Given the description of an element on the screen output the (x, y) to click on. 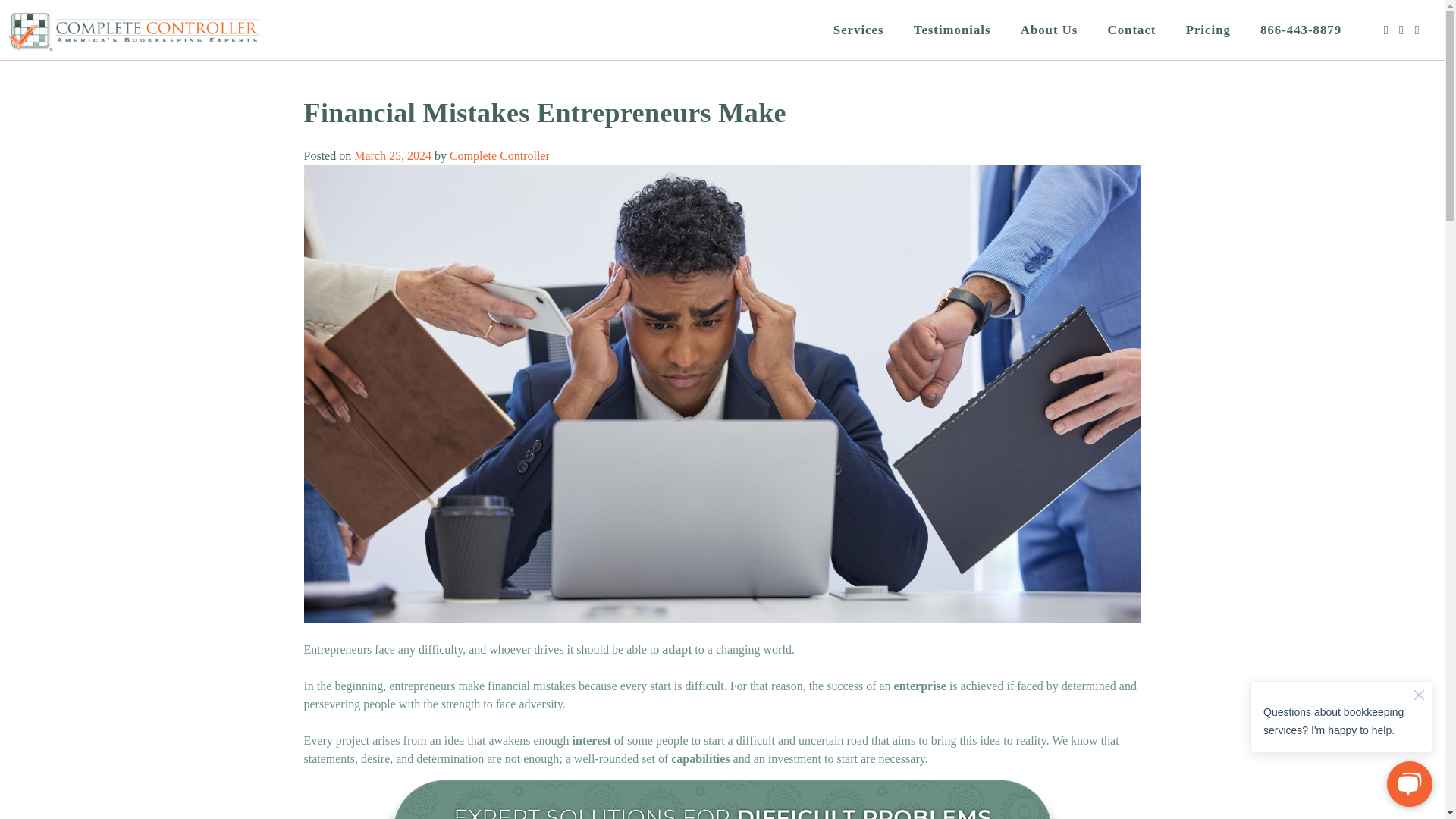
Contact (1131, 29)
About Us (1048, 29)
Pricing (1208, 29)
Complete Controller (499, 155)
March 25, 2024 (391, 155)
Testimonials (951, 29)
866-443-8879 (1300, 29)
Services (858, 29)
